Given the description of an element on the screen output the (x, y) to click on. 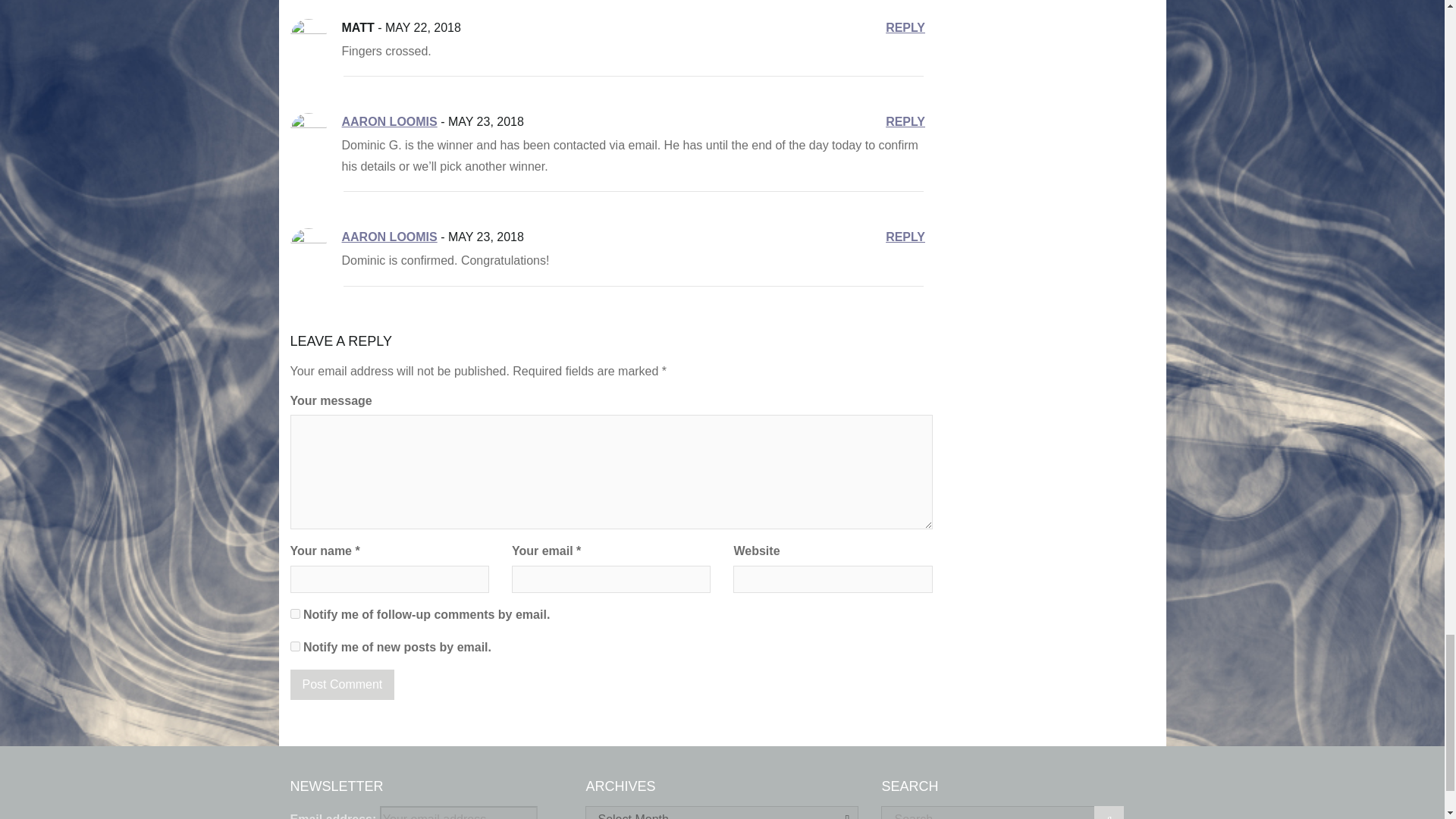
Post Comment (341, 684)
subscribe (294, 614)
subscribe (294, 646)
